Given the description of an element on the screen output the (x, y) to click on. 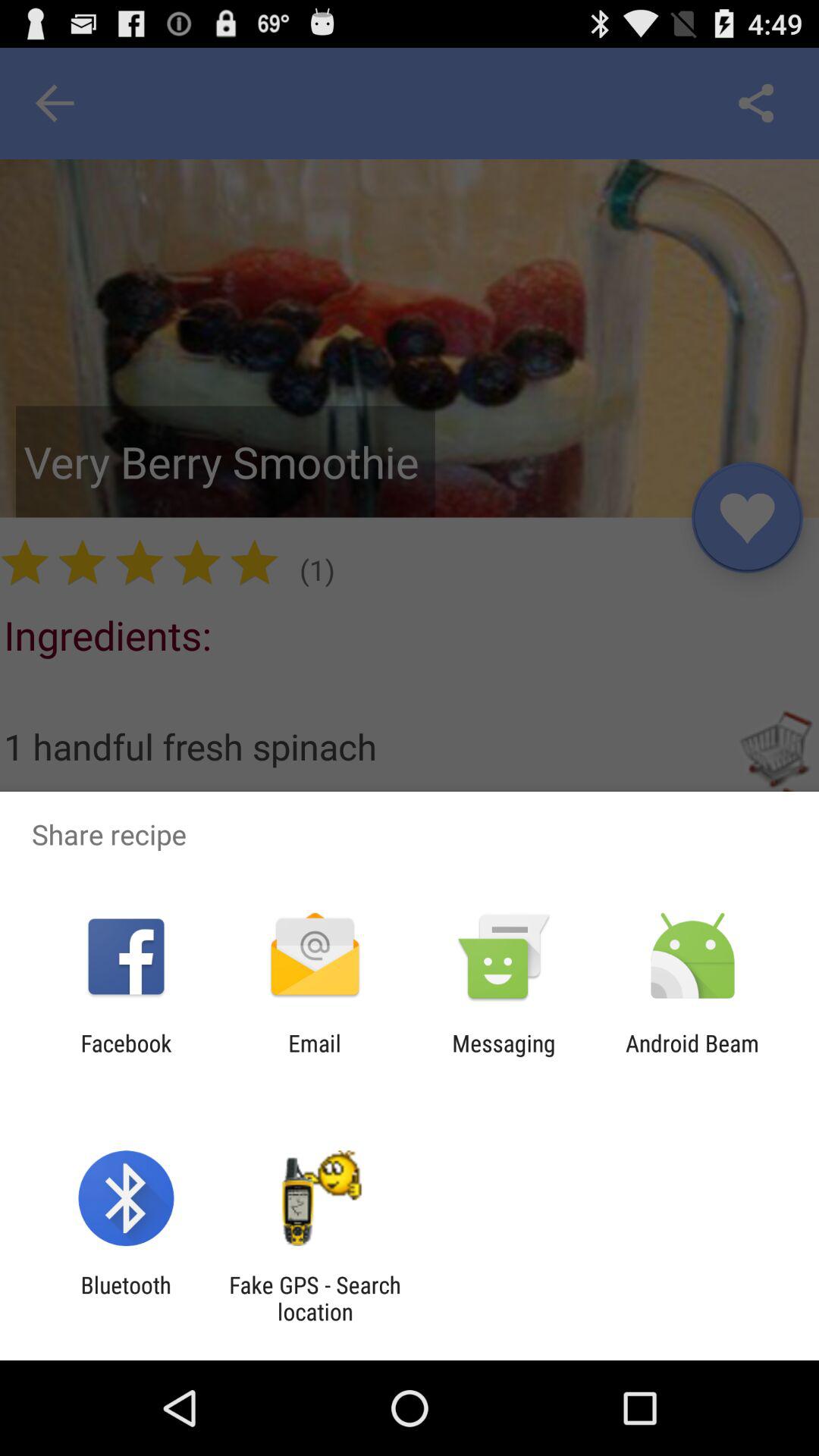
tap the facebook item (125, 1056)
